Given the description of an element on the screen output the (x, y) to click on. 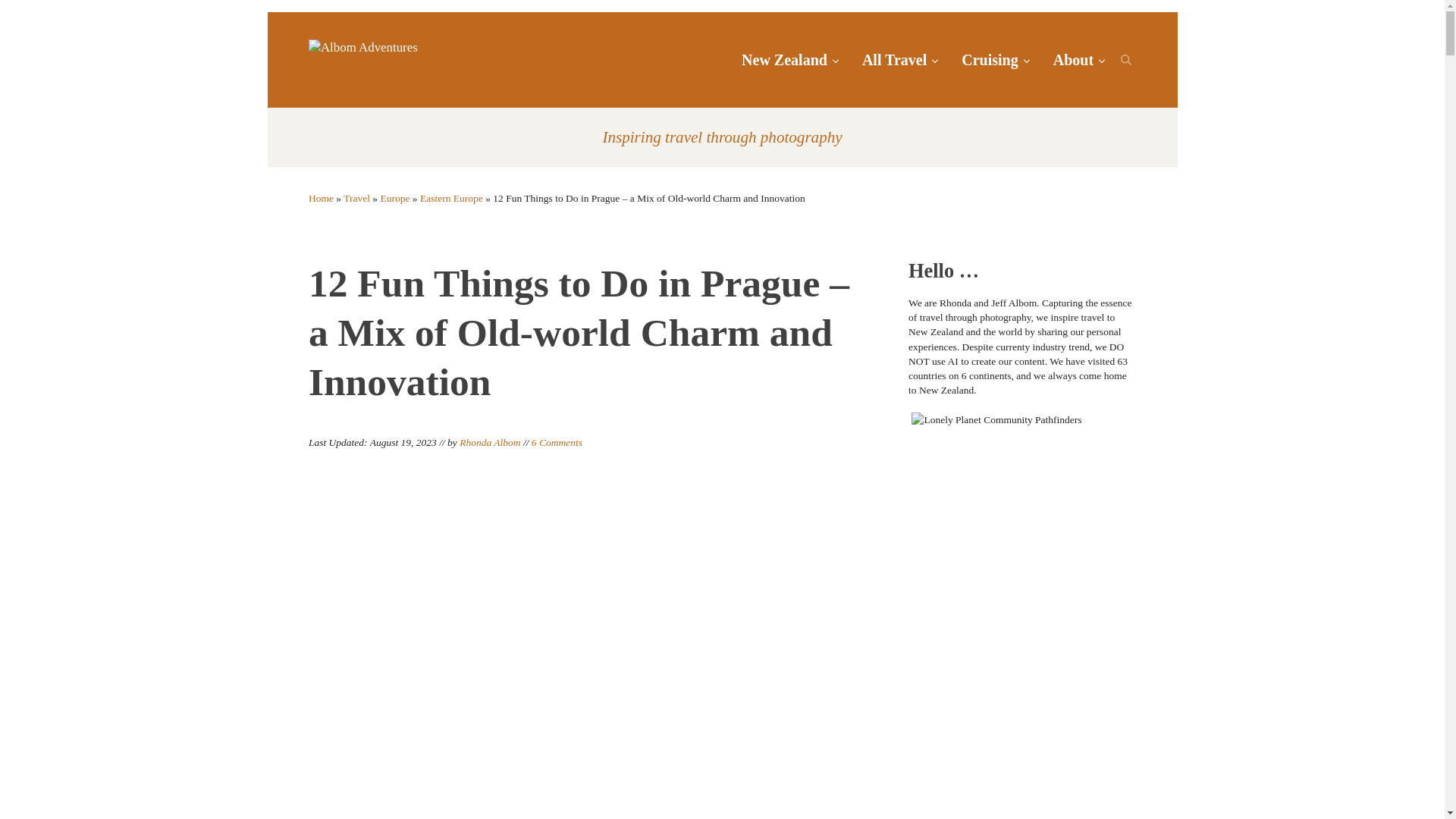
All Travel (899, 59)
About (1078, 59)
Cruising (995, 59)
New Zealand (789, 59)
